Given the description of an element on the screen output the (x, y) to click on. 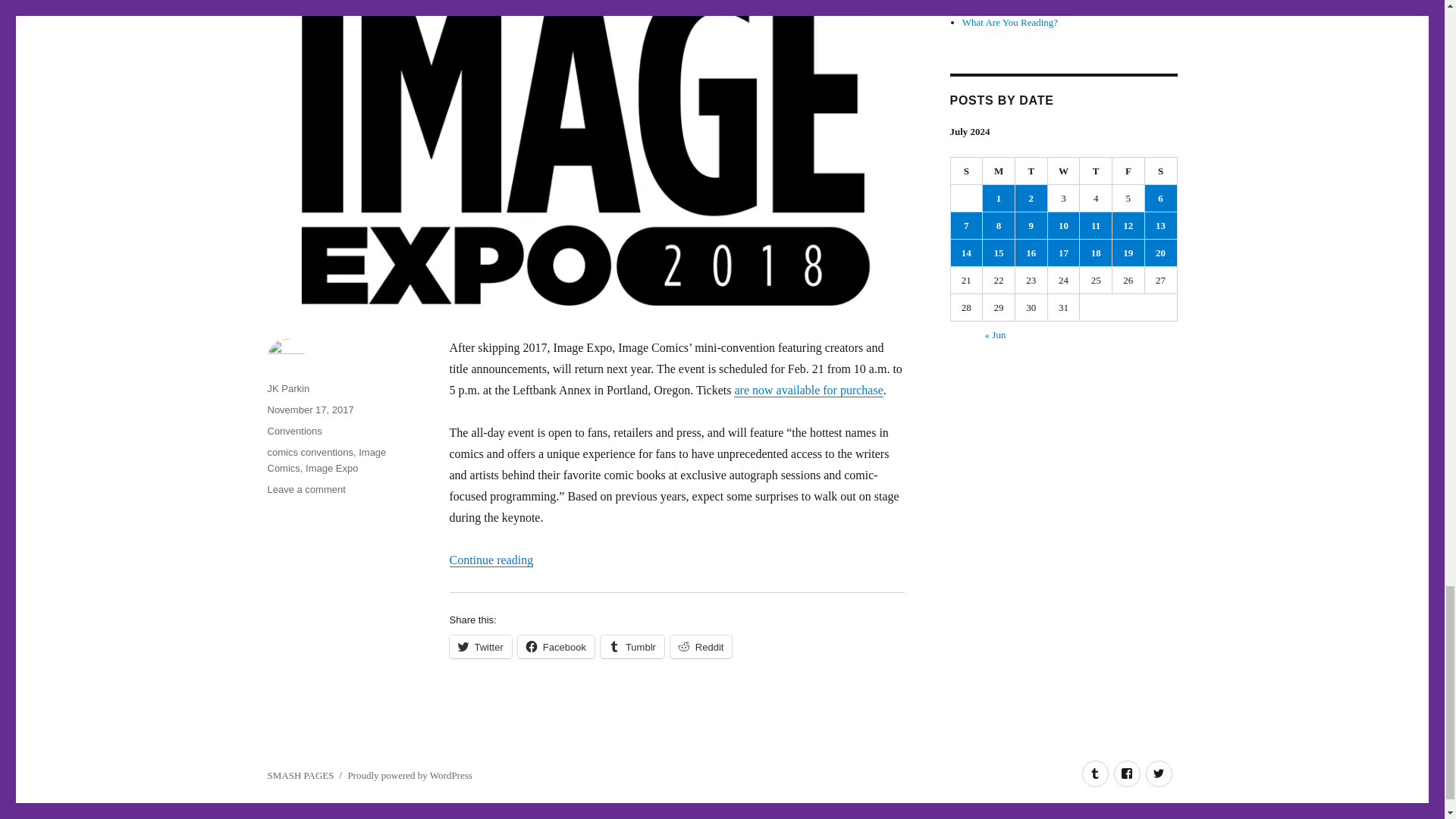
Click to share on Twitter (479, 646)
Click to share on Reddit (700, 646)
Monday (998, 171)
Friday (1128, 171)
Click to share on Facebook (556, 646)
Wednesday (1064, 171)
Tuesday (1031, 171)
Thursday (1096, 171)
Sunday (967, 171)
Click to share on Tumblr (631, 646)
